Given the description of an element on the screen output the (x, y) to click on. 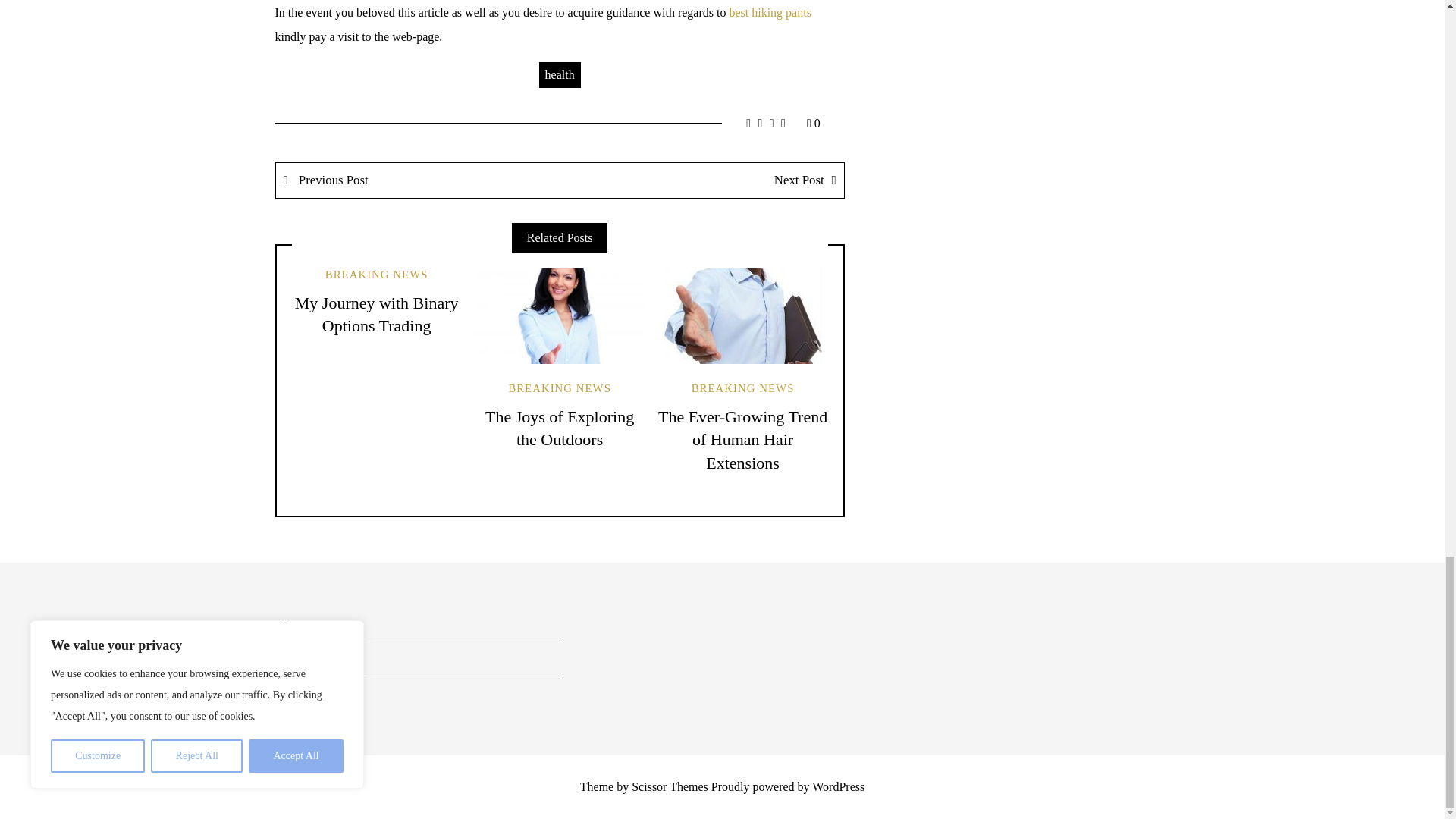
Permalink to: "The Joys of Exploring the Outdoors" (559, 315)
The Joys of Exploring the Outdoors (558, 428)
My Journey with Binary Options Trading (376, 314)
best hiking pants (769, 11)
The Ever-Growing Trend of Human Hair Extensions (742, 440)
health (559, 74)
